Given the description of an element on the screen output the (x, y) to click on. 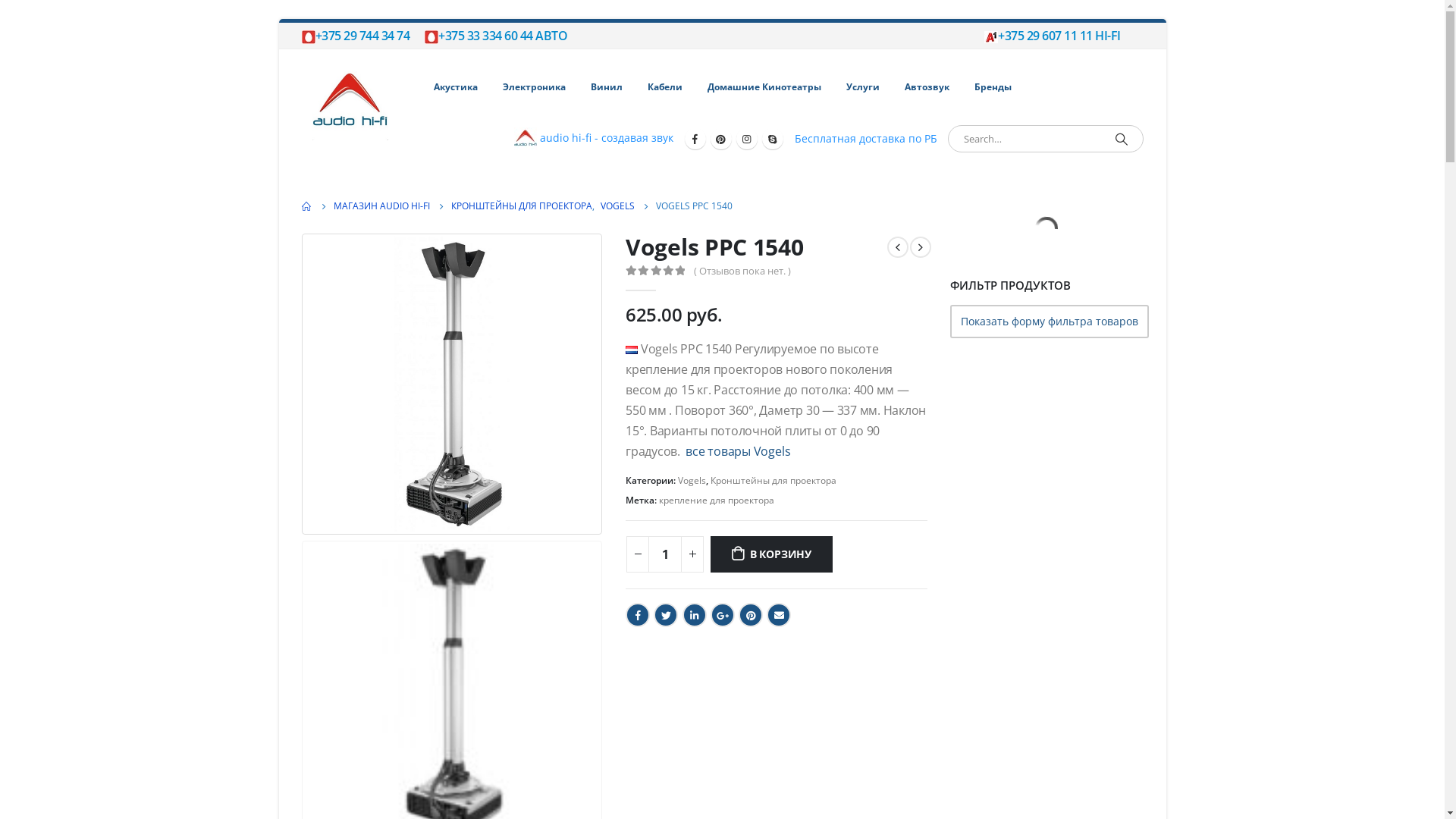
+ Element type: text (691, 554)
Instagram Element type: hover (746, 138)
Go to Home Page Element type: hover (306, 205)
Vogels Element type: text (691, 480)
Facebook Element type: hover (695, 138)
Vogels PPC 1540 Element type: hover (451, 383)
Skype Element type: hover (772, 138)
+375 29 607 11 11 HI-FI Element type: text (1052, 35)
Google + Element type: text (722, 614)
Twitter Element type: text (665, 614)
LinkedIn Element type: text (694, 614)
Facebook Element type: text (637, 614)
Pinterest Element type: hover (720, 138)
+375 29 744 34 74 Element type: text (355, 35)
- Element type: text (637, 554)
Search Element type: hover (1121, 138)
Email Element type: text (778, 614)
0 Element type: hover (654, 270)
VOGELS Element type: text (617, 205)
Pinterest Element type: text (750, 614)
